Given the description of an element on the screen output the (x, y) to click on. 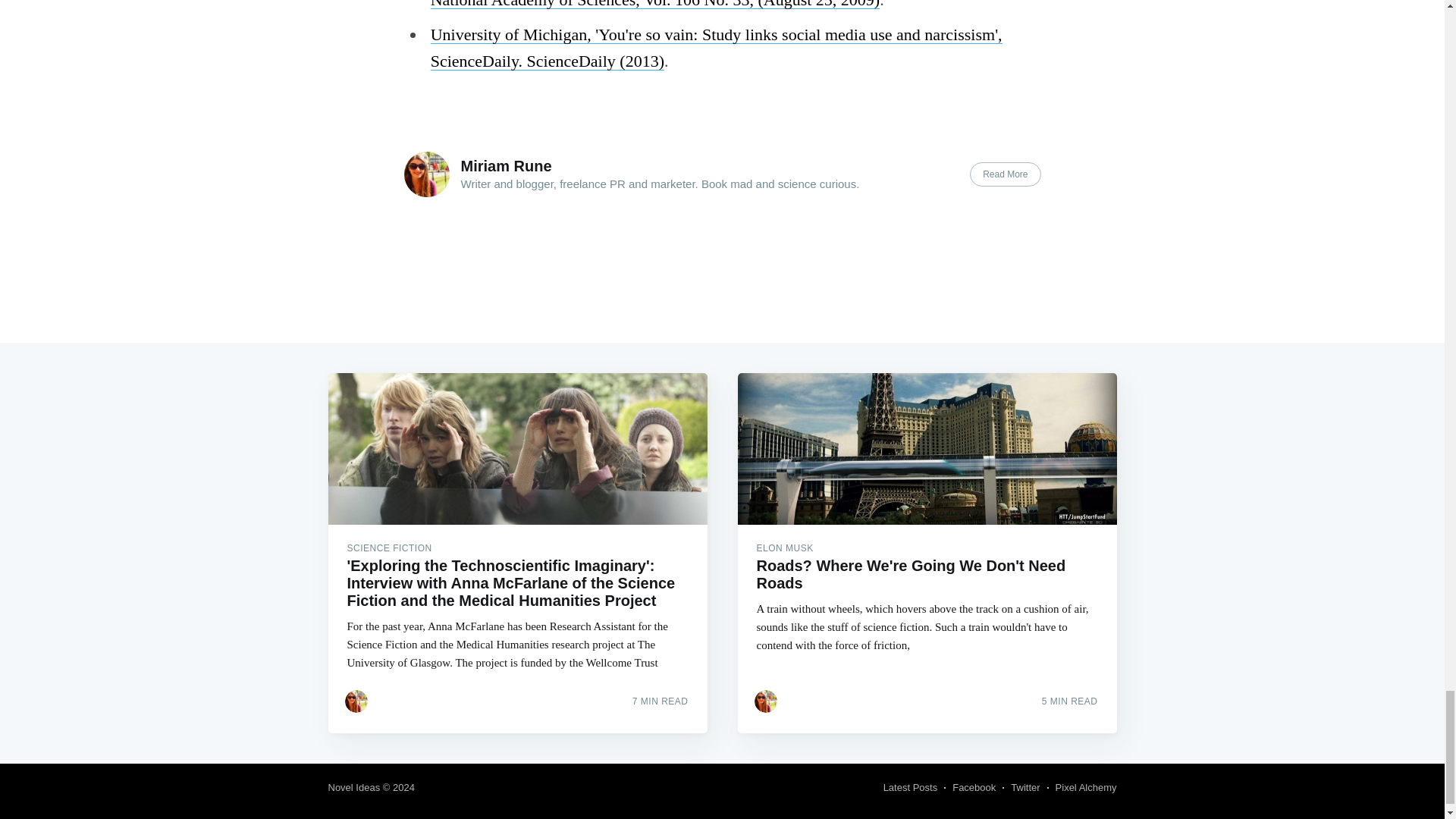
Novel Ideas (353, 787)
Facebook (973, 787)
Twitter (1024, 787)
Latest Posts (910, 787)
Read More (1005, 174)
Pixel Alchemy (1085, 787)
Miriam Rune (506, 166)
